Given the description of an element on the screen output the (x, y) to click on. 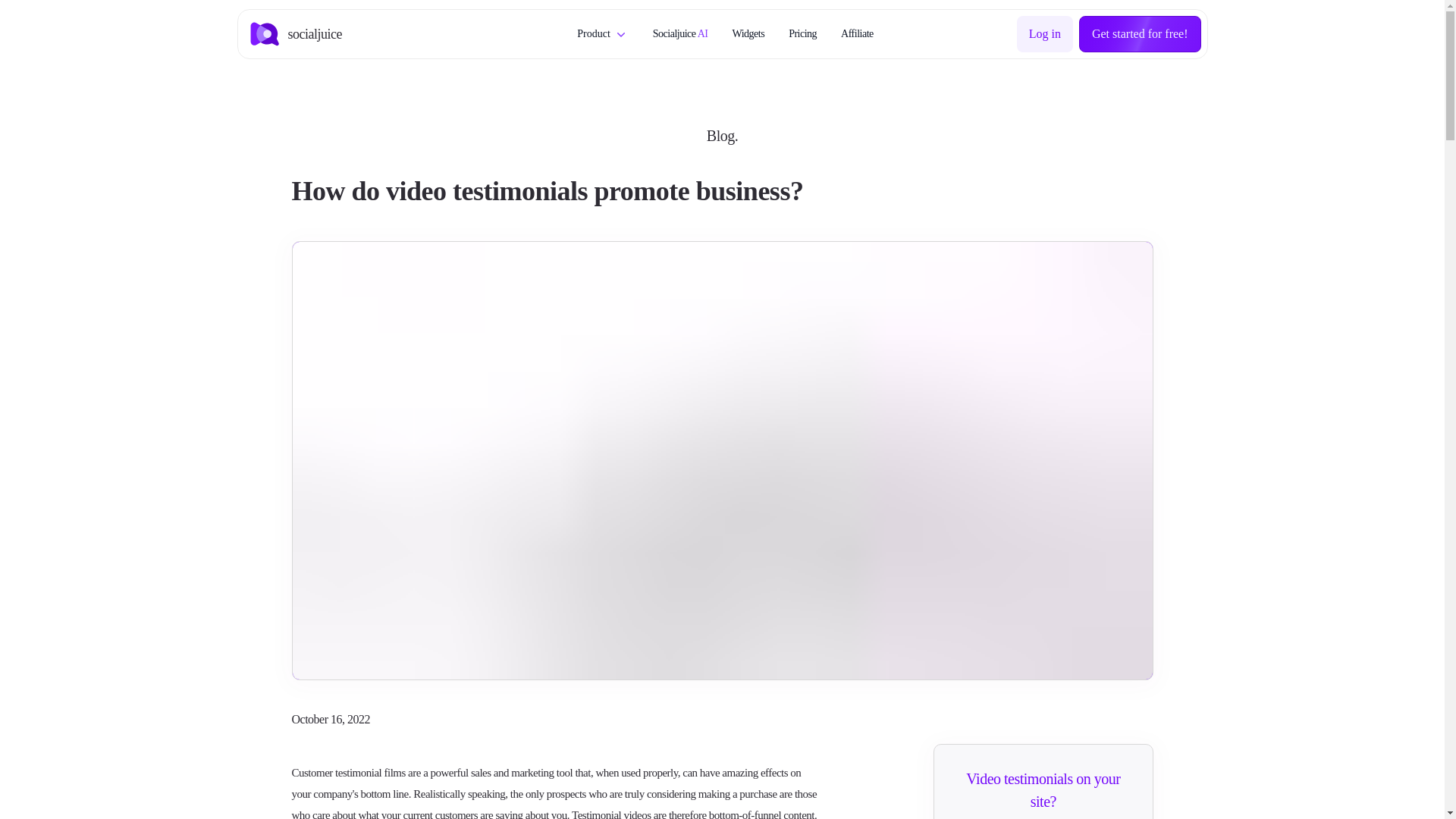
Log in (1044, 33)
Get started for free! (1139, 33)
Affiliate (857, 34)
Get started for free! (1140, 34)
Blog (720, 135)
Pricing (802, 34)
Widgets (748, 34)
Log in (1045, 34)
Product (602, 34)
Socialjuice AI (679, 34)
socialjuice (296, 33)
